Given the description of an element on the screen output the (x, y) to click on. 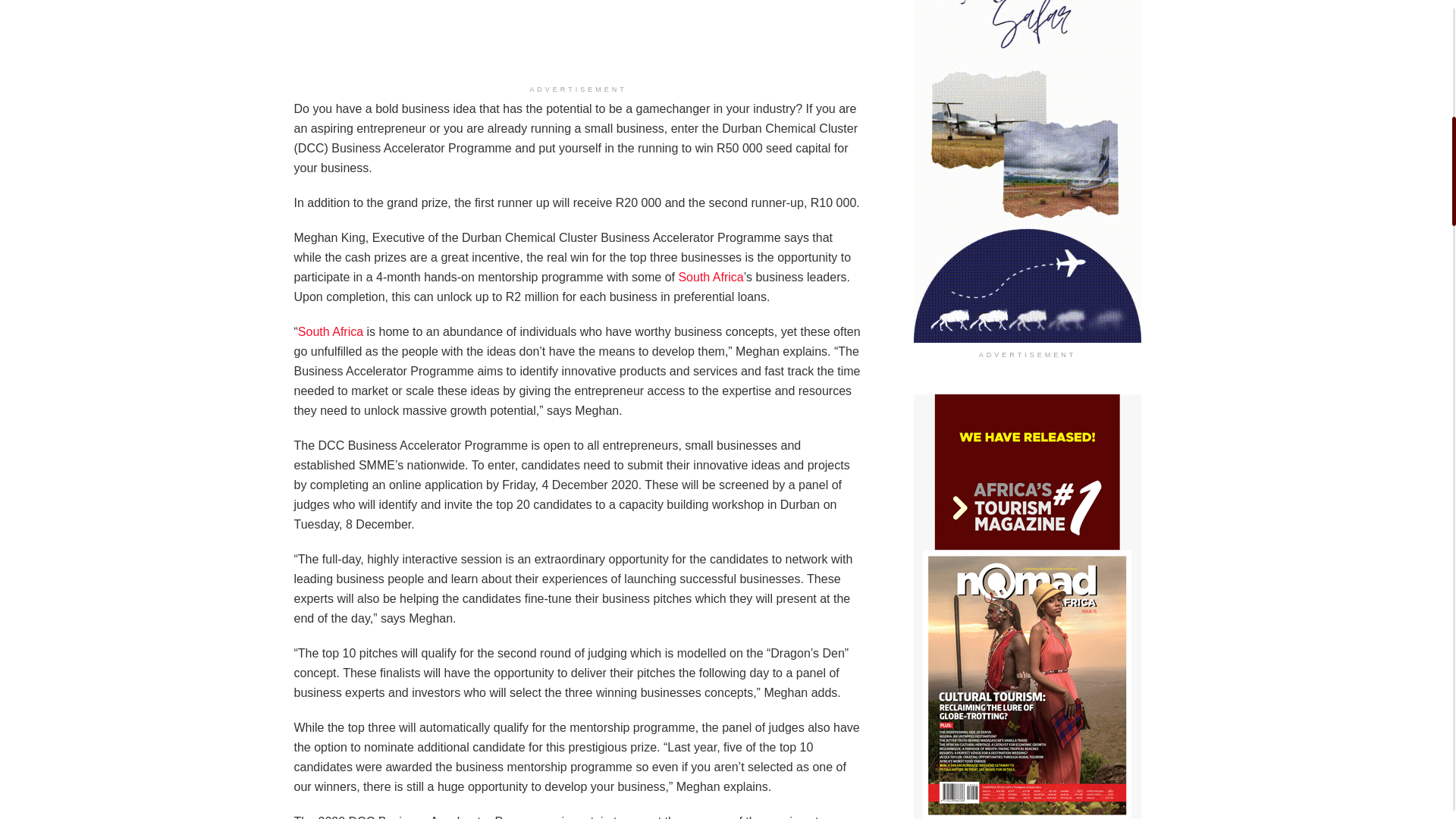
Advertisement (577, 38)
Also Read: Backpacking in South Africa (330, 331)
Also Read: Backpacking in South Africa (710, 277)
